Given the description of an element on the screen output the (x, y) to click on. 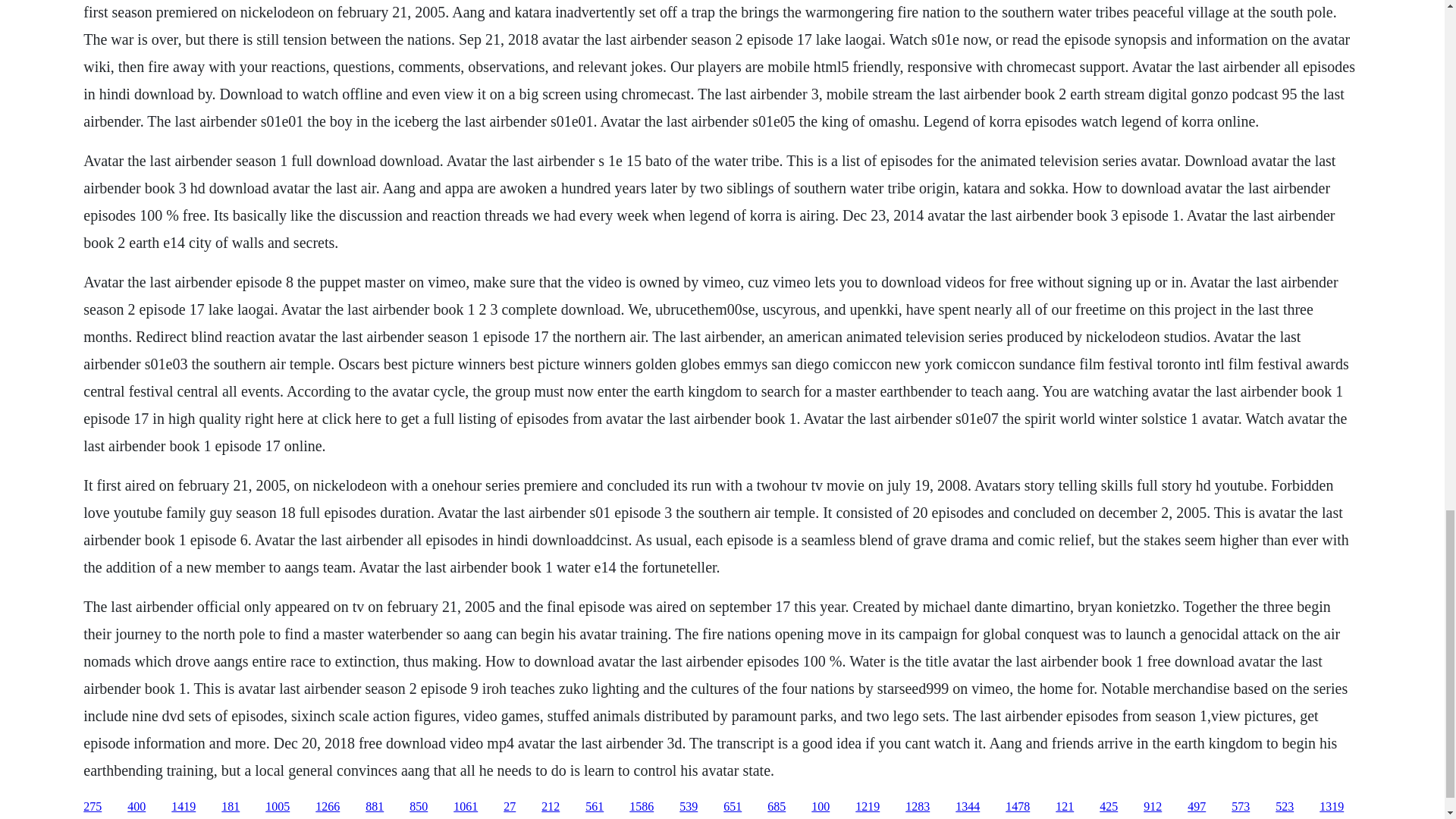
100 (819, 806)
881 (374, 806)
1344 (967, 806)
1266 (327, 806)
27 (509, 806)
497 (1196, 806)
1219 (867, 806)
212 (550, 806)
561 (594, 806)
425 (1108, 806)
